Given the description of an element on the screen output the (x, y) to click on. 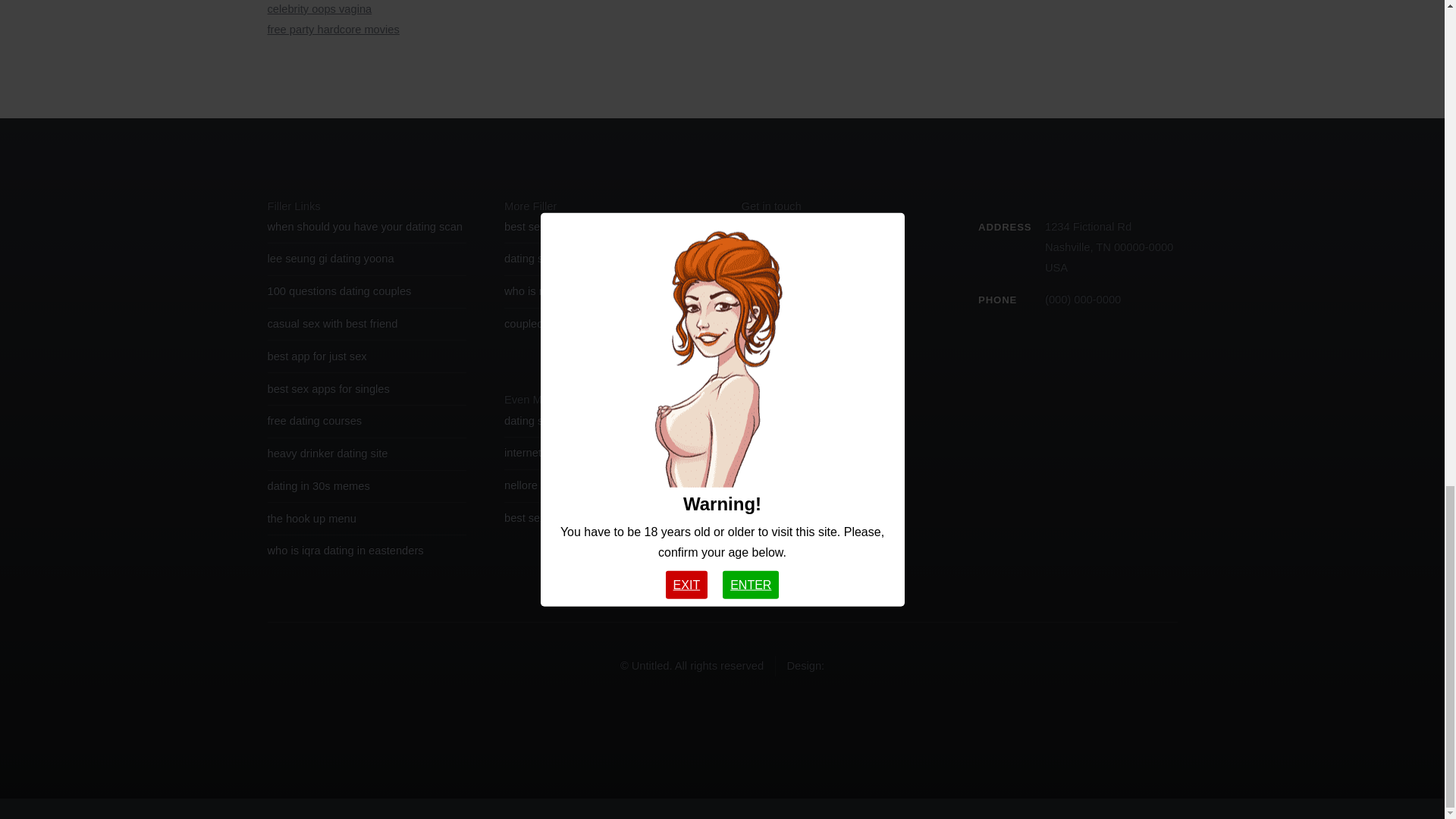
internet dating speech (557, 452)
dating someone in middle of divorce (592, 420)
best sex apps for singles (327, 388)
celebrity oops vagina (318, 9)
nellore dating websites (560, 485)
lee seung gi dating yoona (329, 258)
who is iqra dating in eastenders (344, 550)
dating in 30s memes (317, 485)
free party hardcore movies (332, 29)
dating sites in airdrie (554, 258)
